Given the description of an element on the screen output the (x, y) to click on. 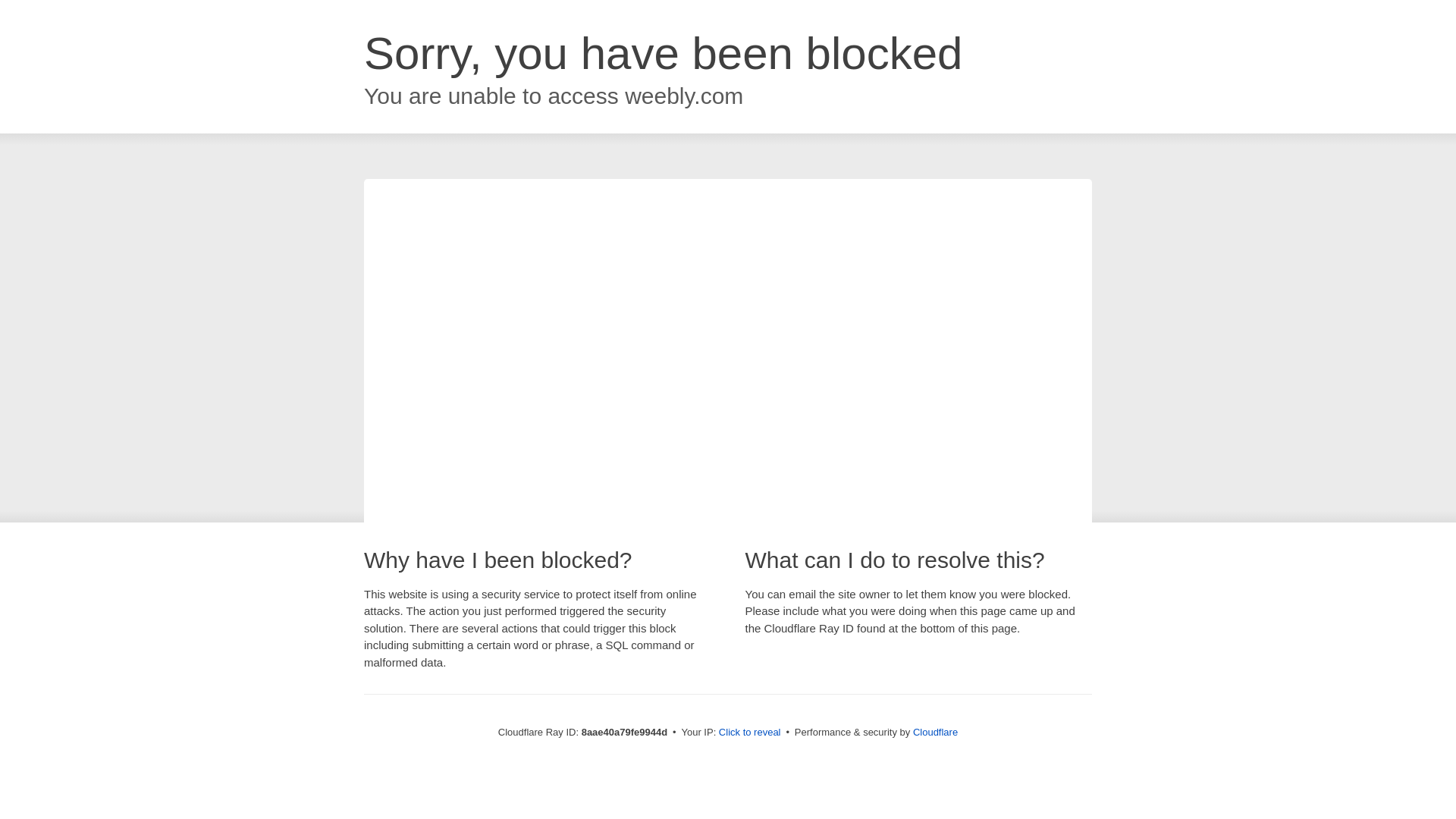
Click to reveal (749, 732)
Cloudflare (935, 731)
